Given the description of an element on the screen output the (x, y) to click on. 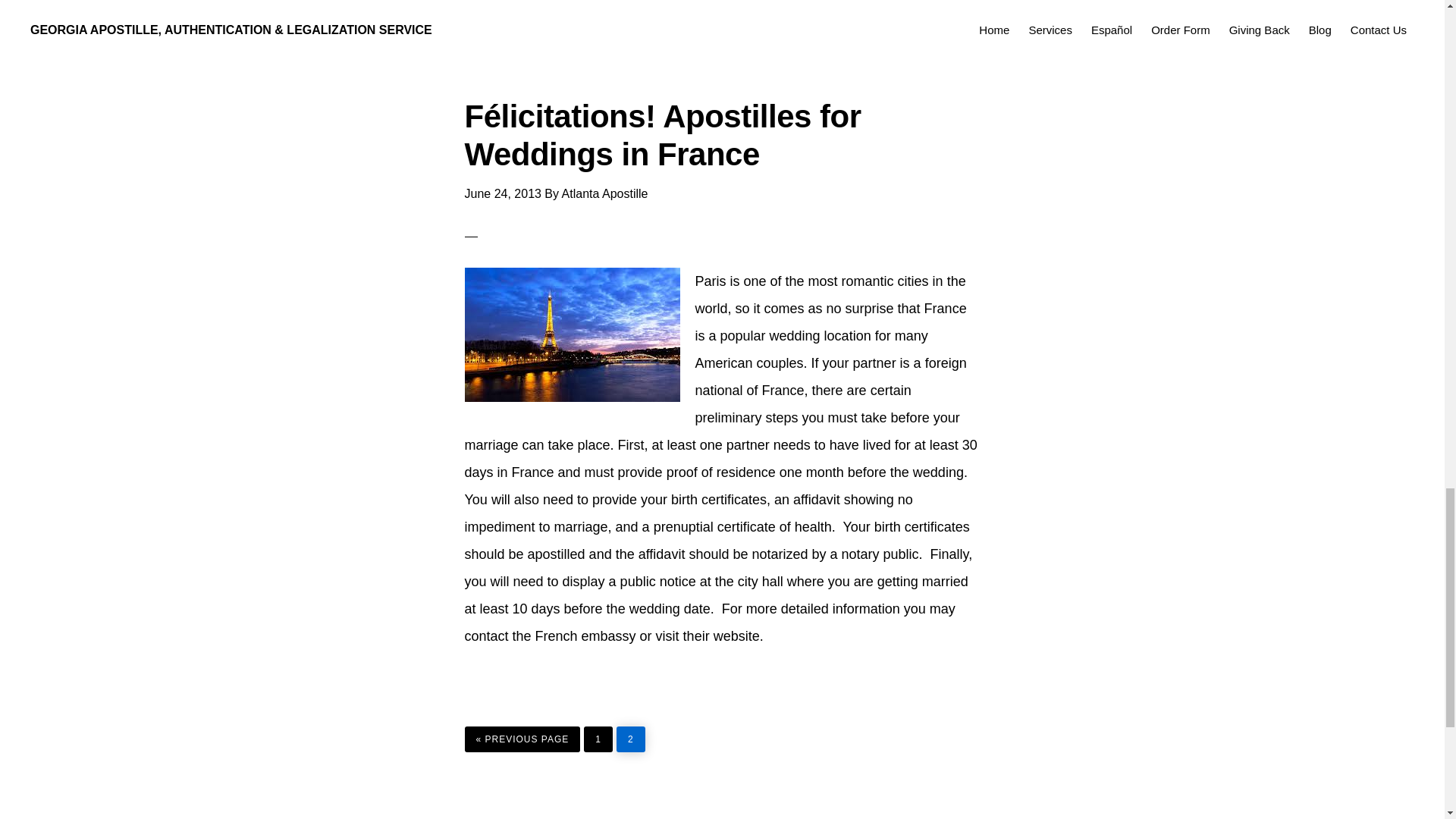
Atlanta Apostille (604, 193)
